Given the description of an element on the screen output the (x, y) to click on. 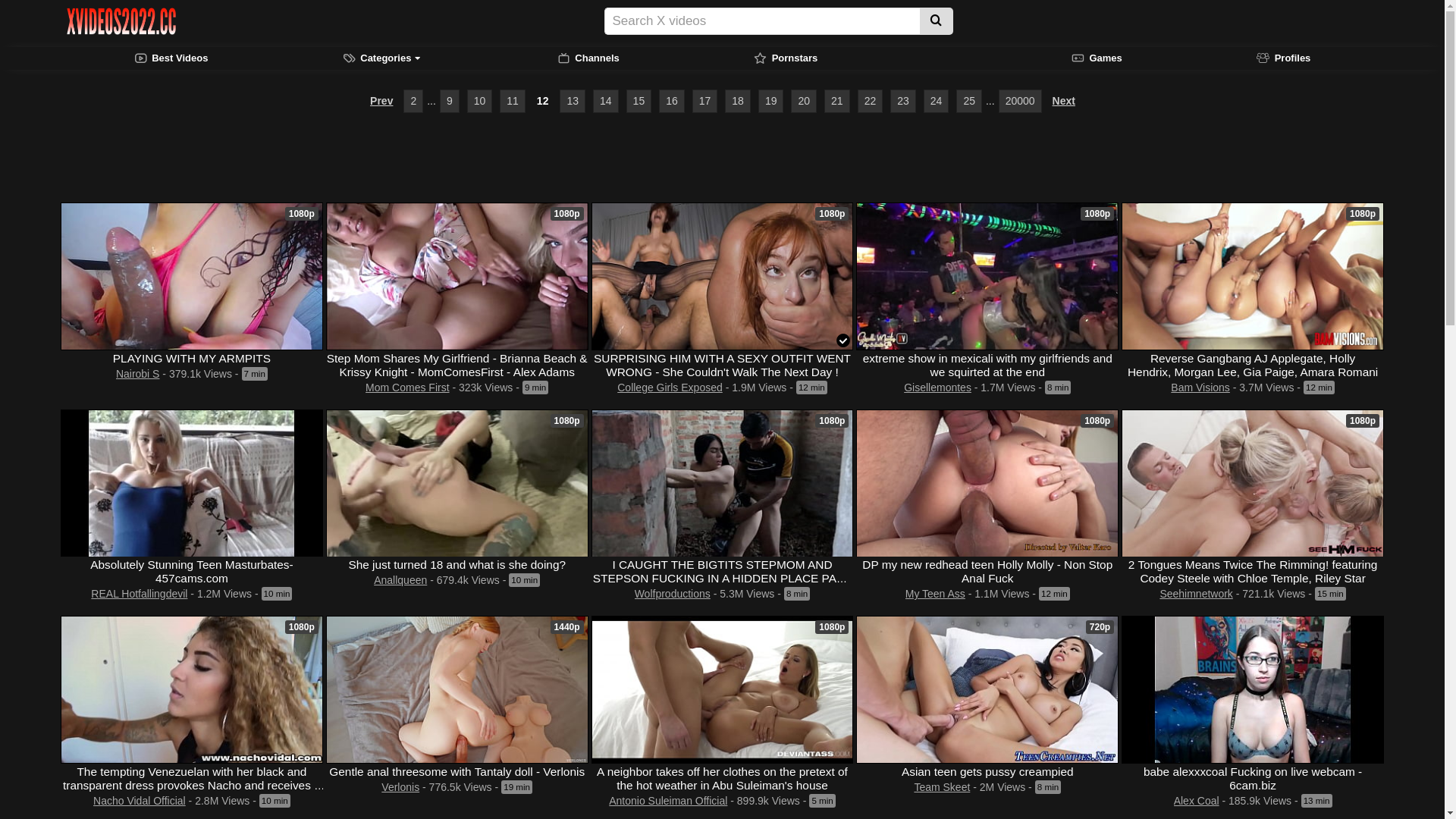
Seehimnetwork Element type: text (1196, 593)
Nacho Vidal Official Element type: text (139, 800)
Antonio Suleiman Official Element type: text (667, 800)
1080p Element type: text (722, 276)
1080p Element type: text (457, 276)
PLAYING WITH MY ARMPITS Element type: text (191, 357)
24 Element type: text (936, 100)
720p Element type: text (987, 689)
19 Element type: text (771, 100)
Best Videos Element type: text (170, 58)
1080p Element type: text (191, 689)
10 Element type: text (479, 100)
Anallqueen Element type: text (399, 580)
23 Element type: text (903, 100)
25 Element type: text (969, 100)
Bam Visions Element type: text (1200, 386)
2 Element type: text (413, 100)
Asian teen gets pussy creampied Element type: text (987, 770)
My Teen Ass Element type: text (935, 593)
18 Element type: text (737, 100)
She just turned 18 and what is she doing? Element type: text (456, 564)
Channels Element type: text (587, 58)
DP my new redhead teen Holly Molly - Non Stop Anal Fuck Element type: text (987, 571)
Mom Comes First Element type: text (406, 386)
College Girls Exposed Element type: text (669, 386)
1080p Element type: text (722, 483)
14 Element type: text (605, 100)
Nairobi S Element type: text (138, 373)
17 Element type: text (705, 100)
22 Element type: text (870, 100)
11 Element type: text (512, 100)
16 Element type: text (671, 100)
20000 Element type: text (1019, 100)
12 Element type: text (542, 100)
Wolfproductions Element type: text (672, 593)
Absolutely Stunning Teen Masturbates- 457cams.com Element type: text (191, 571)
... Element type: text (989, 100)
Search Element type: hover (935, 20)
1080p Element type: text (987, 483)
13 Element type: text (572, 100)
1080p Element type: text (722, 689)
21 Element type: text (837, 100)
Team Skeet Element type: text (941, 787)
Games Element type: text (1096, 58)
1080p Element type: text (1252, 276)
1080p Element type: text (987, 276)
Alex Coal Element type: text (1196, 800)
Gisellemontes Element type: text (937, 386)
1440p Element type: text (457, 689)
Verlonis Element type: text (400, 787)
1080p Element type: text (191, 276)
15 Element type: text (639, 100)
REAL Hotfallingdevil Element type: text (139, 593)
9 Element type: text (449, 100)
Profiles Element type: text (1283, 58)
1080p Element type: text (457, 483)
... Element type: text (431, 100)
babe alexxxcoal Fucking on live webcam - 6cam.biz Element type: text (1252, 777)
Gentle anal threesome with Tantaly doll - Verlonis Element type: text (456, 770)
20 Element type: text (803, 100)
Verified model Element type: hover (842, 339)
Prev Element type: text (381, 100)
1080p Element type: text (1252, 483)
Pornstars Element type: text (785, 58)
Next Element type: text (1063, 100)
